Given the description of an element on the screen output the (x, y) to click on. 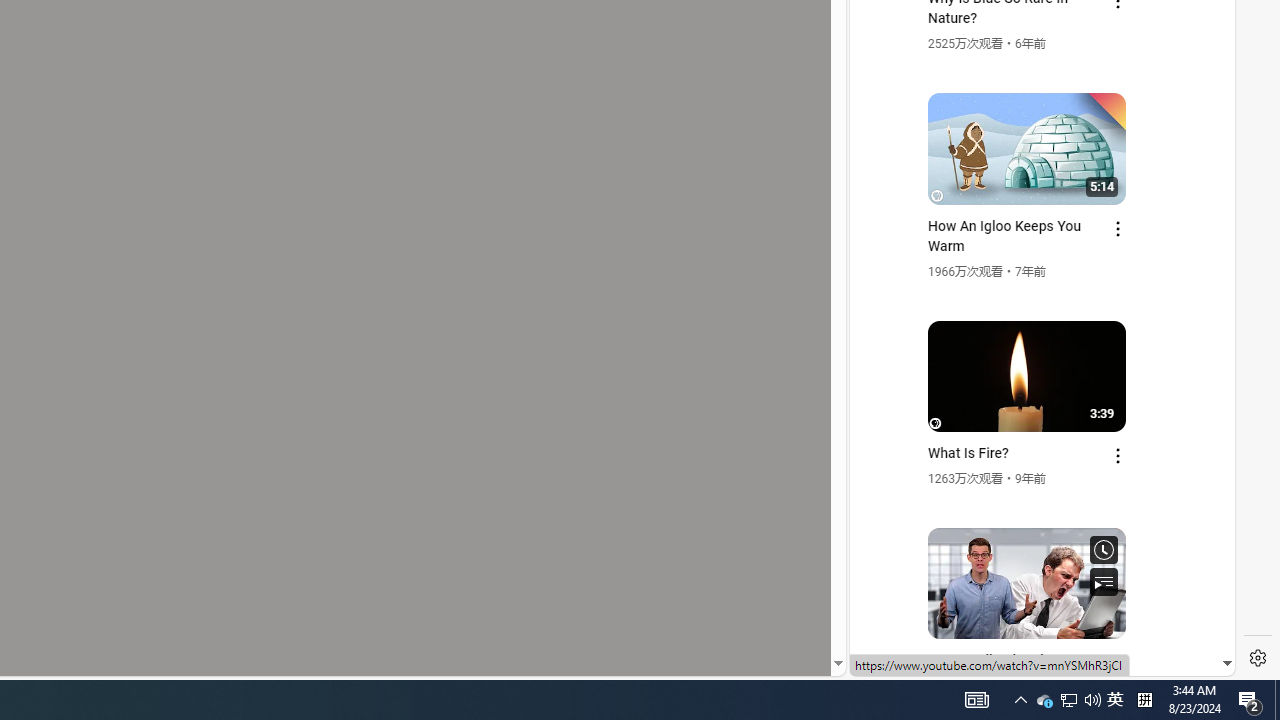
Class: dict_pnIcon rms_img (1028, 660)
US[ju] (917, 660)
YouTube - YouTube (1034, 266)
Click to scroll right (1196, 83)
you (1034, 609)
YouTube (1034, 432)
